Given the description of an element on the screen output the (x, y) to click on. 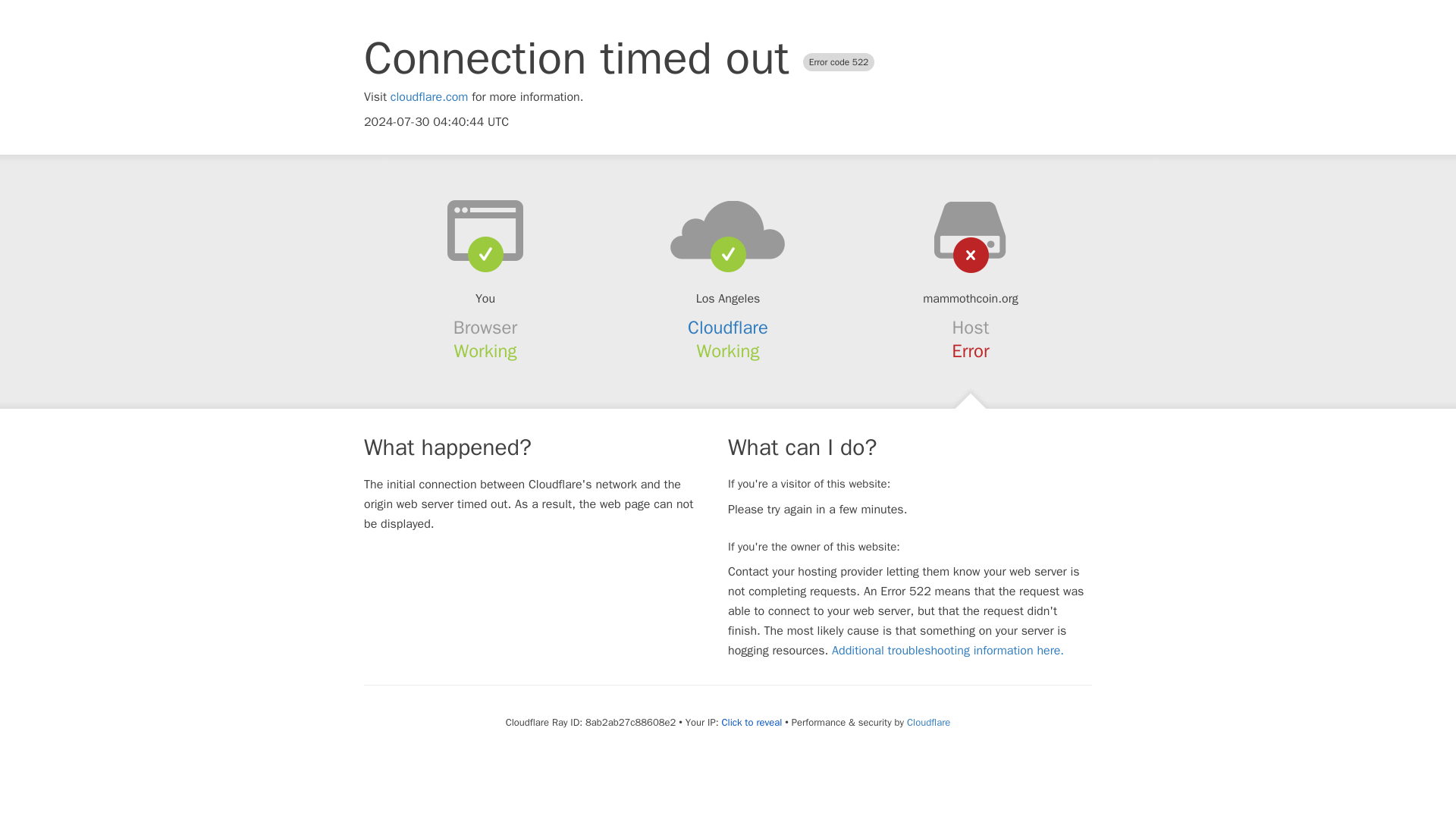
Additional troubleshooting information here. (947, 650)
Click to reveal (750, 722)
cloudflare.com (429, 96)
Cloudflare (727, 327)
Cloudflare (928, 721)
